Given the description of an element on the screen output the (x, y) to click on. 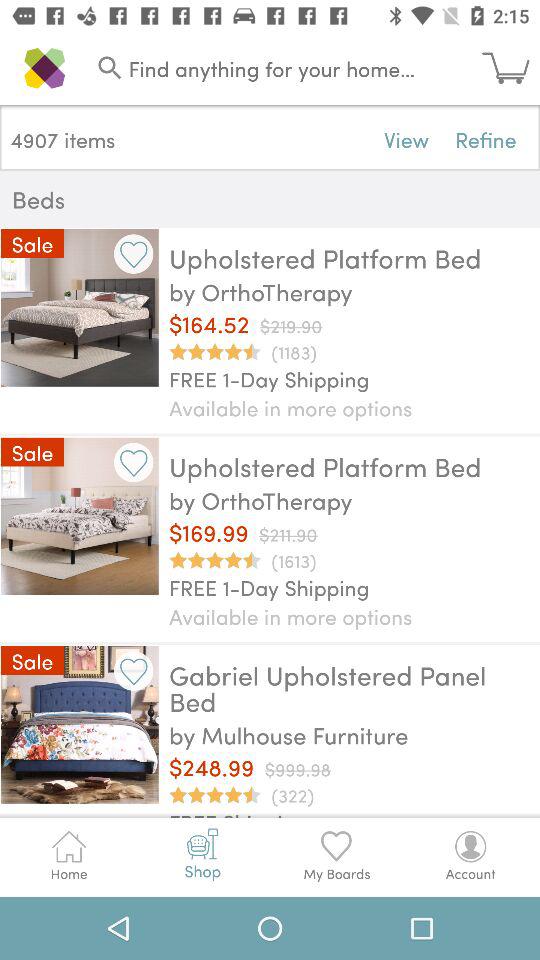
favorite this listing (133, 253)
